Given the description of an element on the screen output the (x, y) to click on. 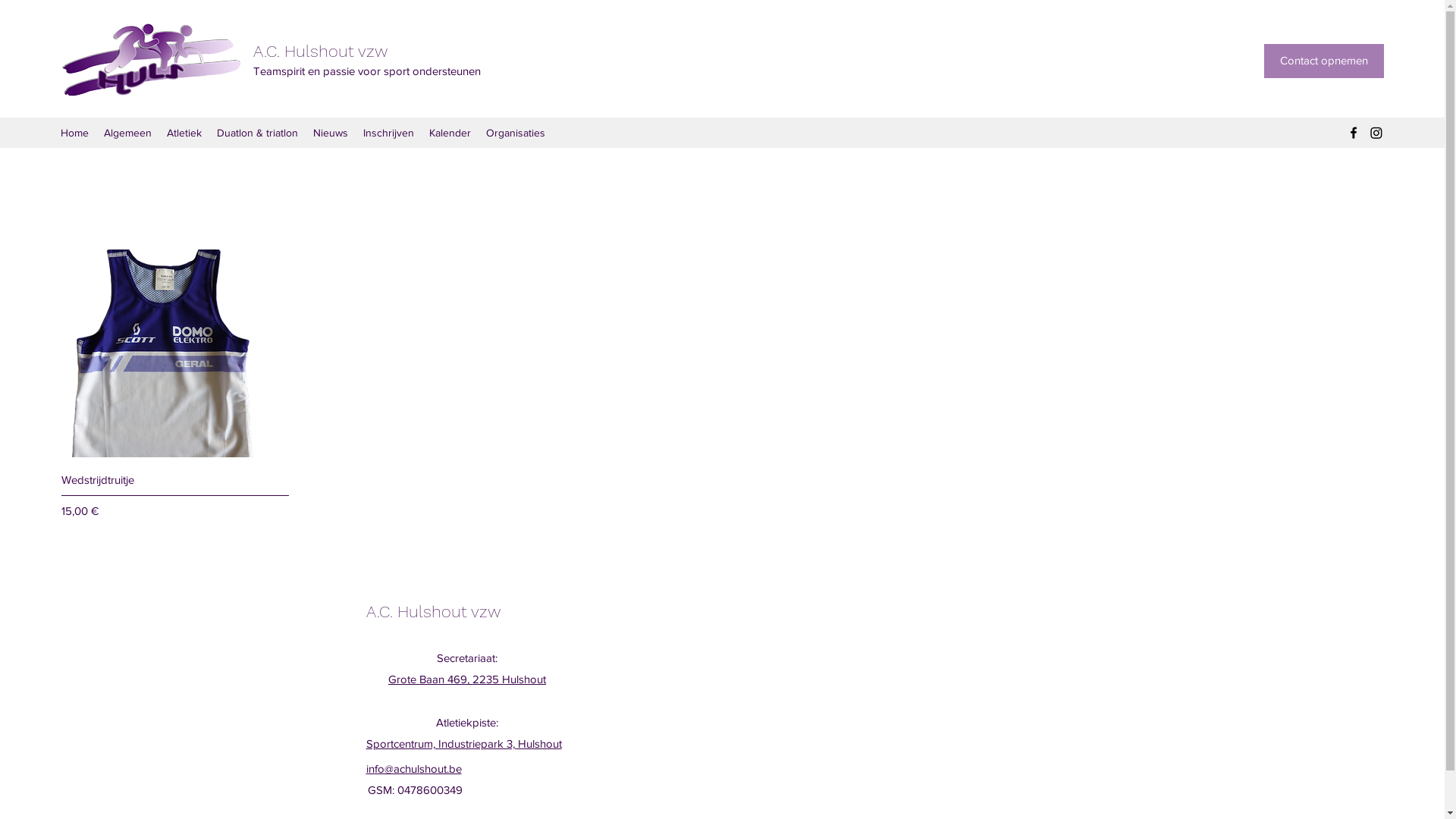
A.C. Hulshout vzw Element type: text (320, 50)
Nieuws Element type: text (330, 132)
A.C. Hulshout vzw Element type: text (432, 611)
Algemeen Element type: text (127, 132)
Sportcentrum, Industriepark 3, Hulshout Element type: text (463, 743)
Organisaties Element type: text (515, 132)
Kalender Element type: text (449, 132)
Home Element type: text (74, 132)
Inschrijven Element type: text (388, 132)
Atletiek Element type: text (184, 132)
info@achulshout.be Element type: text (413, 768)
Contact opnemen Element type: text (1323, 60)
Duatlon & triatlon Element type: text (257, 132)
Grote Baan 469, 2235 Hulshout Element type: text (467, 678)
